Given the description of an element on the screen output the (x, y) to click on. 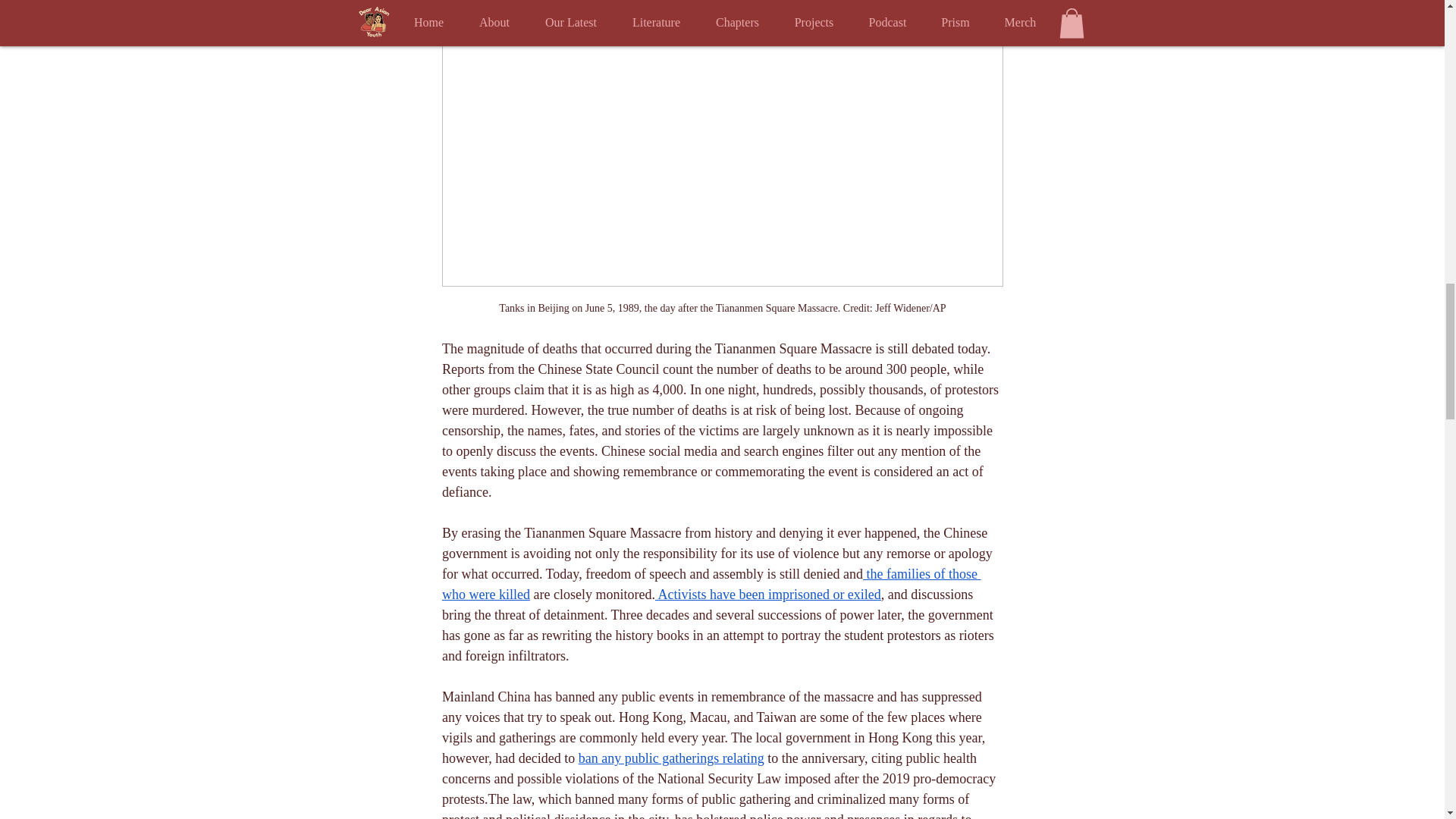
 Activists have been imprisoned or exiled (766, 595)
 the families of those who were killed (710, 584)
ban any public gatherings relating (670, 758)
